Given the description of an element on the screen output the (x, y) to click on. 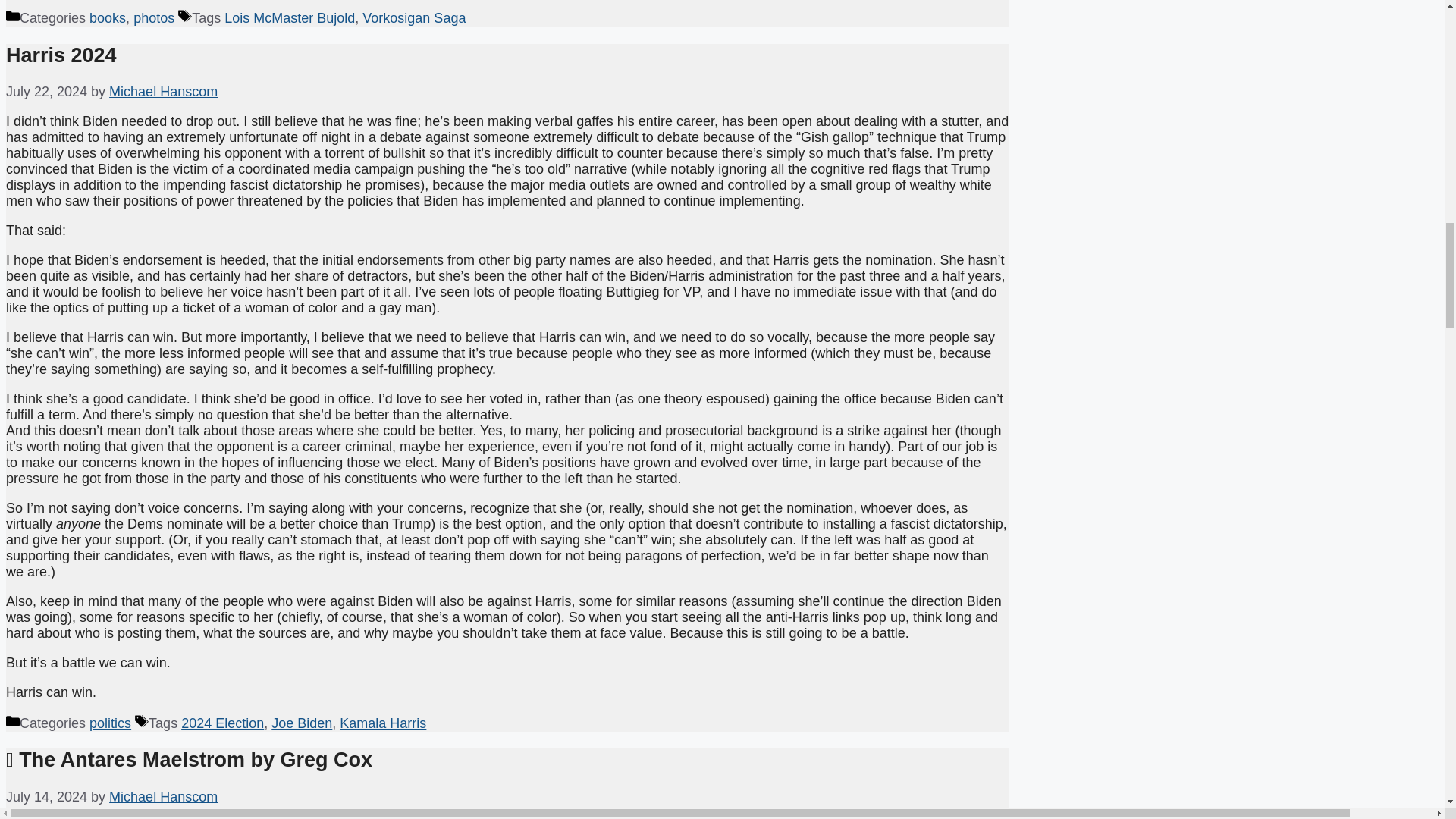
Lois McMaster Bujold (289, 17)
photos (153, 17)
View all posts by Michael Hanscom (162, 91)
Vorkosigan Saga (413, 17)
Michael Hanscom (162, 91)
Joe Biden (300, 723)
View all posts by Michael Hanscom (162, 796)
2024 Election (221, 723)
Michael Hanscom (162, 796)
Kamala Harris (382, 723)
